Given the description of an element on the screen output the (x, y) to click on. 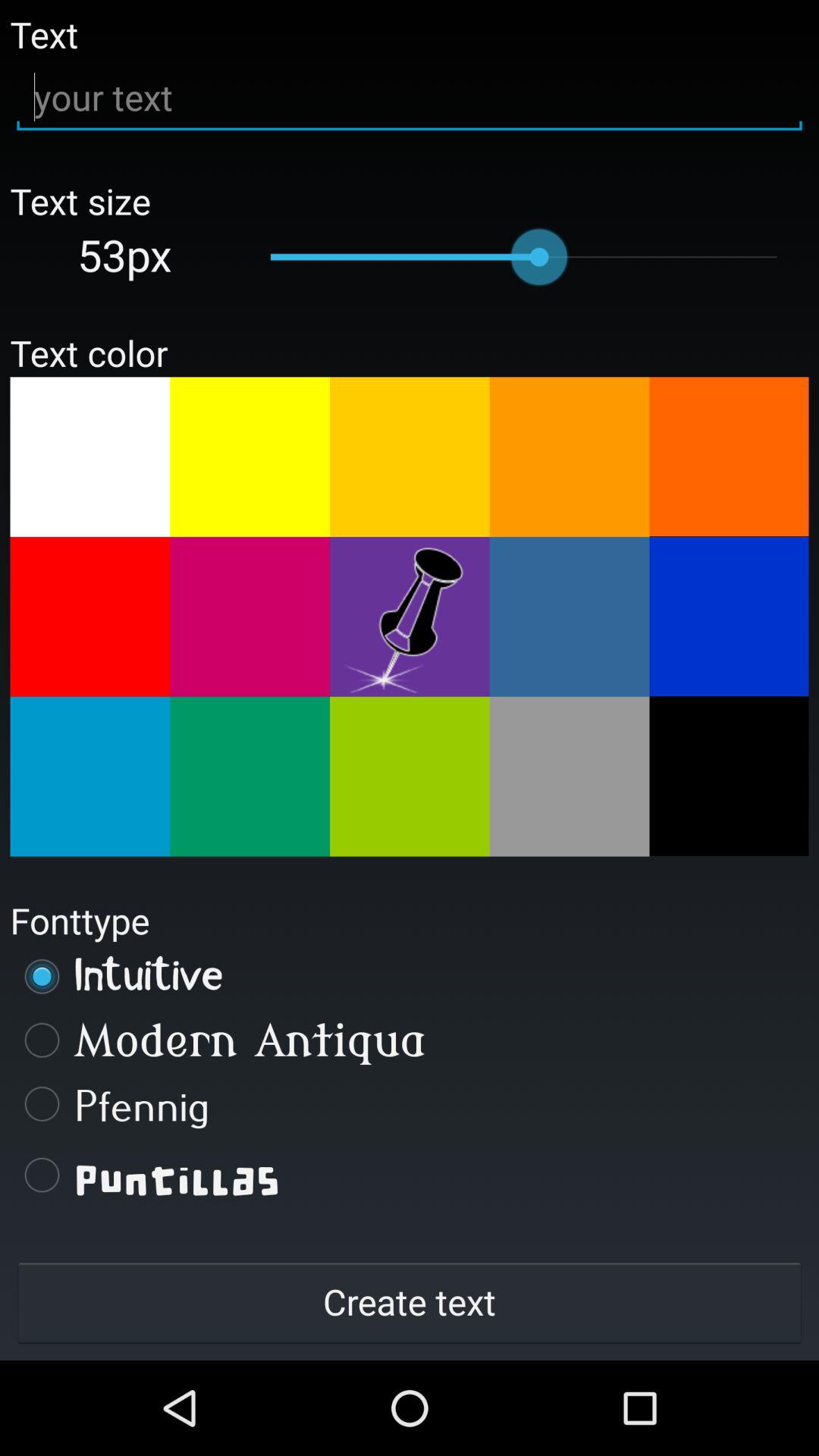
swipe until the intuitive item (409, 976)
